Given the description of an element on the screen output the (x, y) to click on. 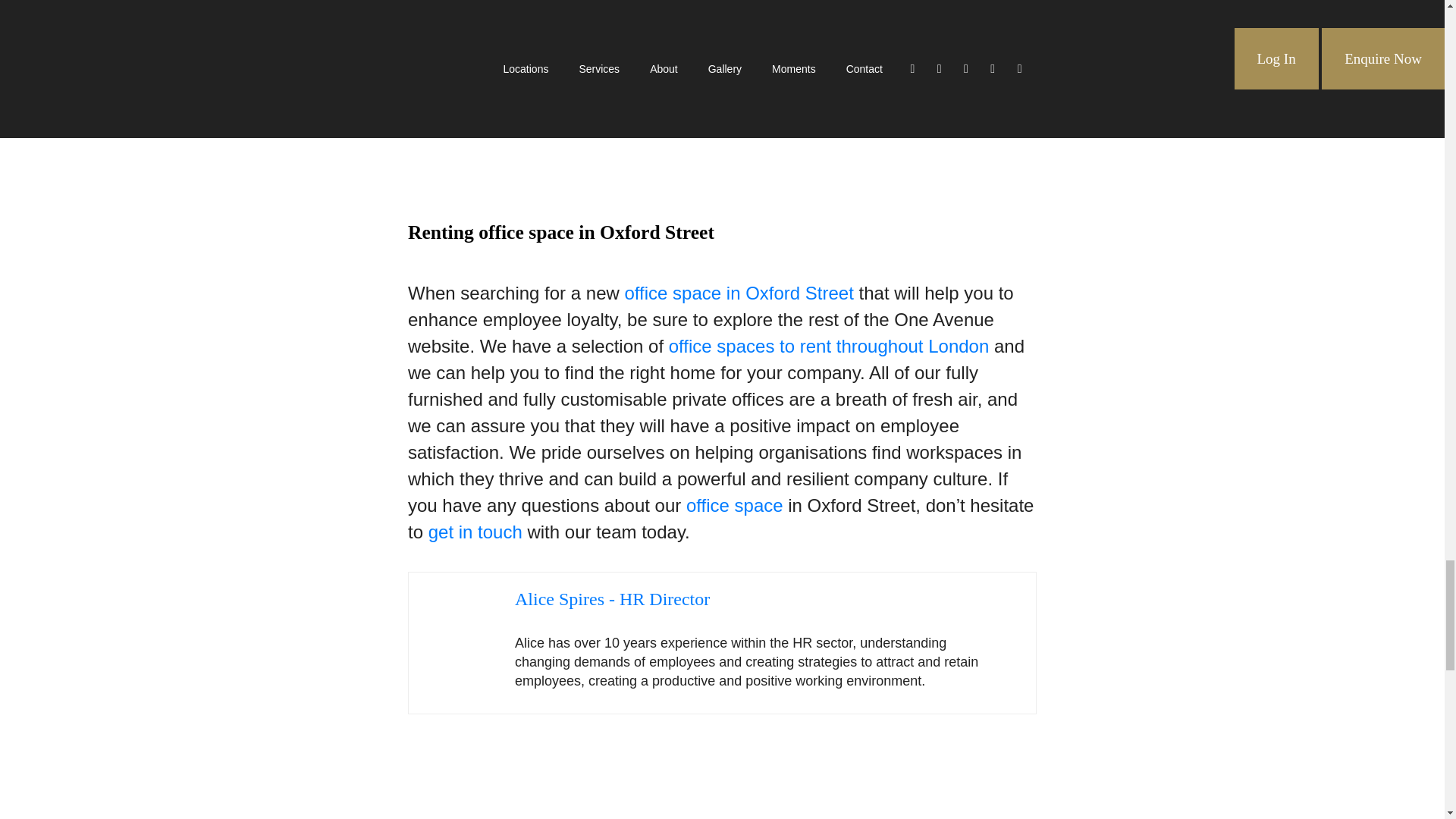
get in touch (475, 531)
office space in Oxford Street (738, 292)
office space (734, 505)
Alice Spires - HR Director (612, 598)
Image-6--300x200 (520, 123)
office spaces to rent throughout London (829, 345)
